Given the description of an element on the screen output the (x, y) to click on. 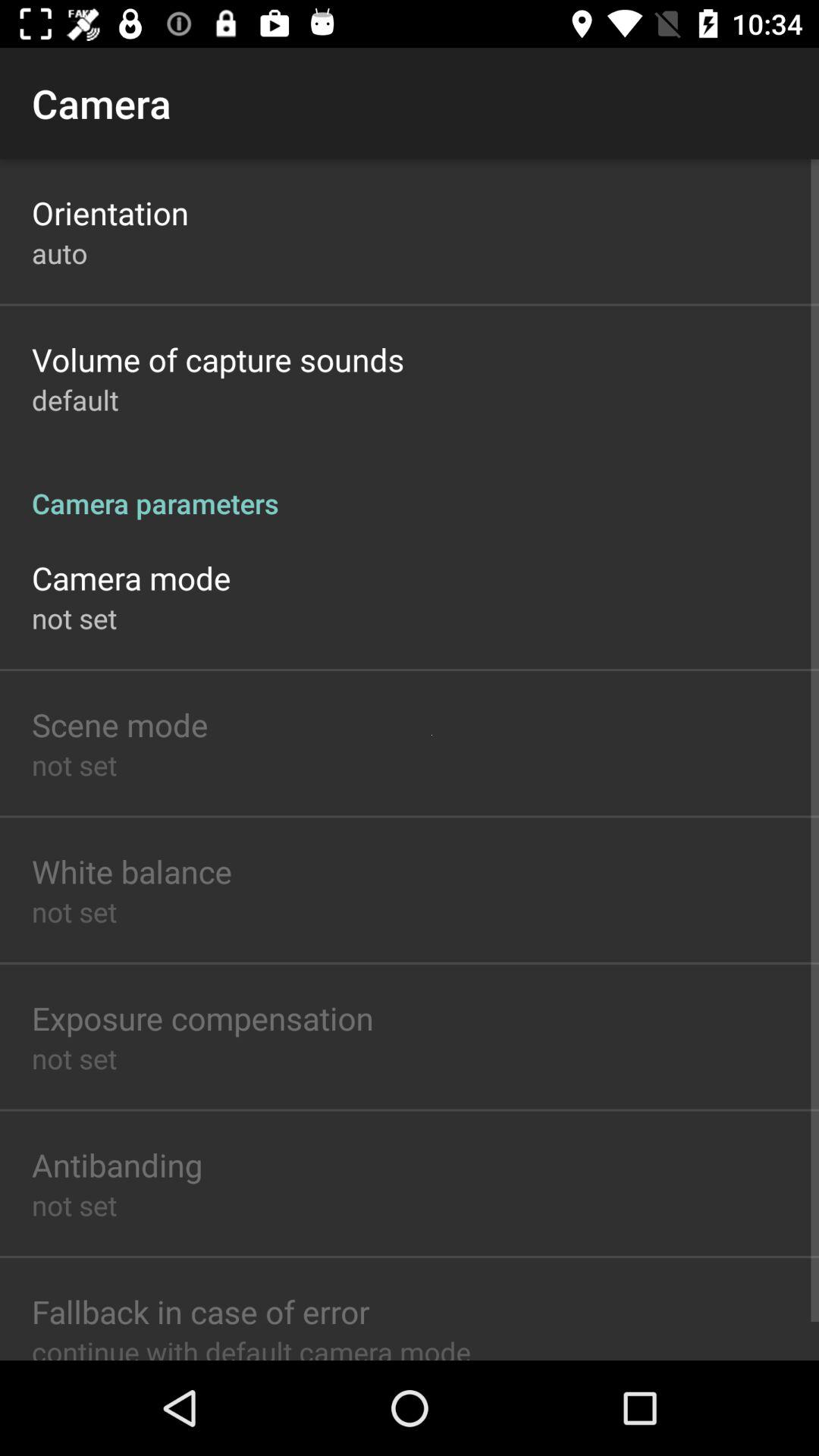
tap the icon above the not set (116, 1164)
